Given the description of an element on the screen output the (x, y) to click on. 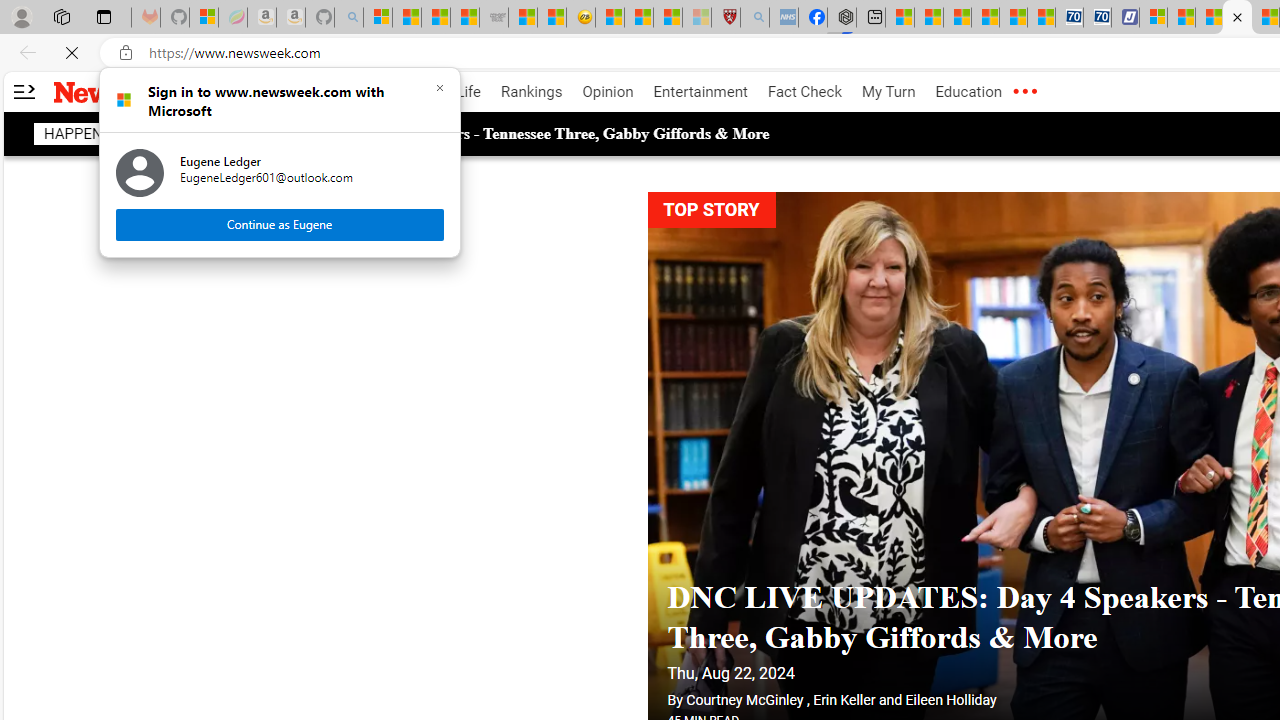
Microsoft account | Privacy (1153, 17)
Recipes - MSN (610, 17)
Rankings (532, 92)
Opinion (607, 92)
Newsweek - News, Analysis, Politics, Business, Technology (1236, 17)
Microsoft-Report a Concern to Bing (203, 17)
Nordace - Nordace Siena Is Not An Ordinary Backpack (842, 17)
Eileen Holliday (950, 660)
Class: the-red (1023, 92)
